Given the description of an element on the screen output the (x, y) to click on. 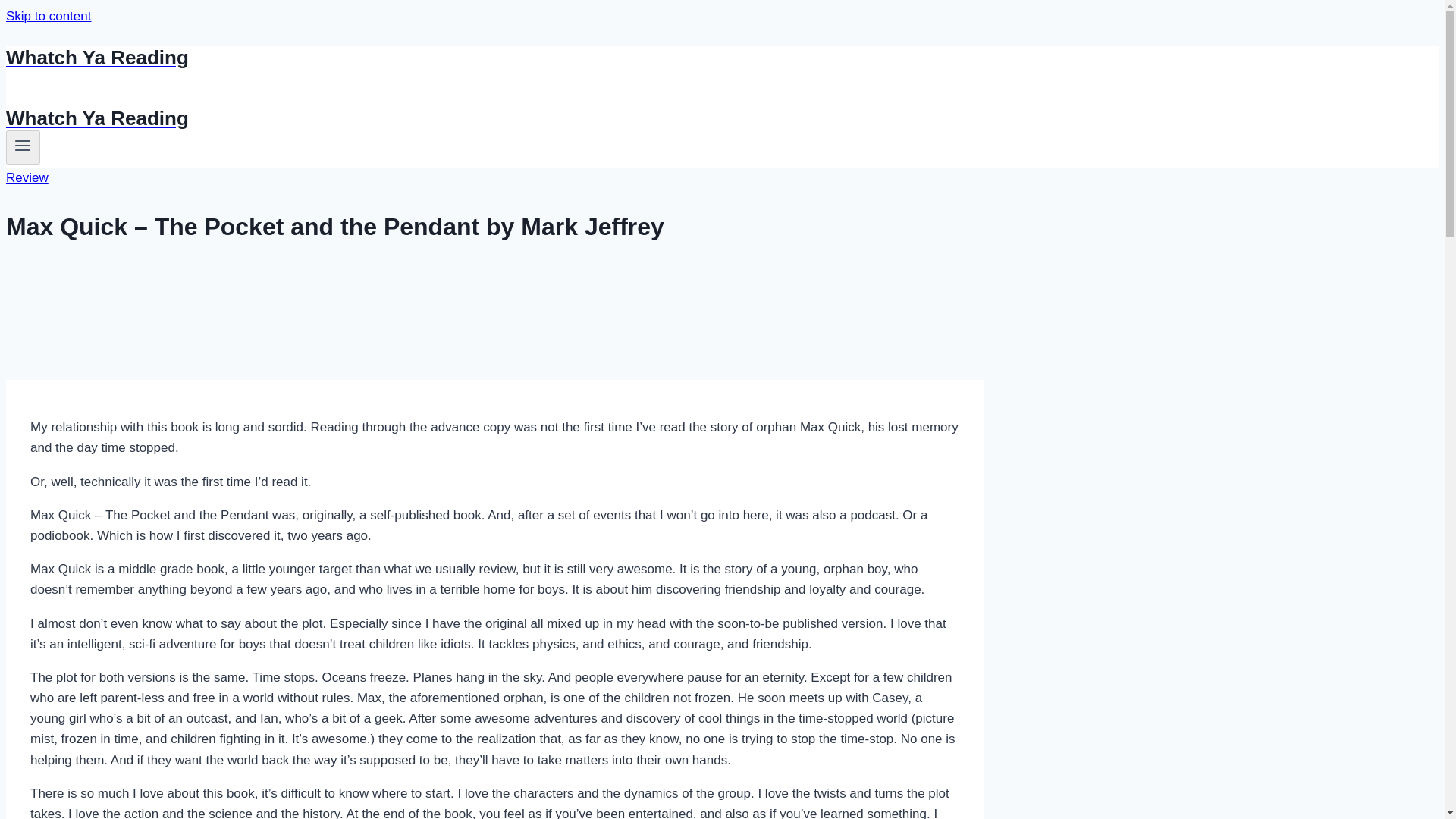
Whatch Ya Reading (494, 57)
Toggle Menu (22, 145)
Review (26, 177)
Skip to content (47, 16)
Whatch Ya Reading (494, 118)
Toggle Menu (22, 146)
Skip to content (47, 16)
